Given the description of an element on the screen output the (x, y) to click on. 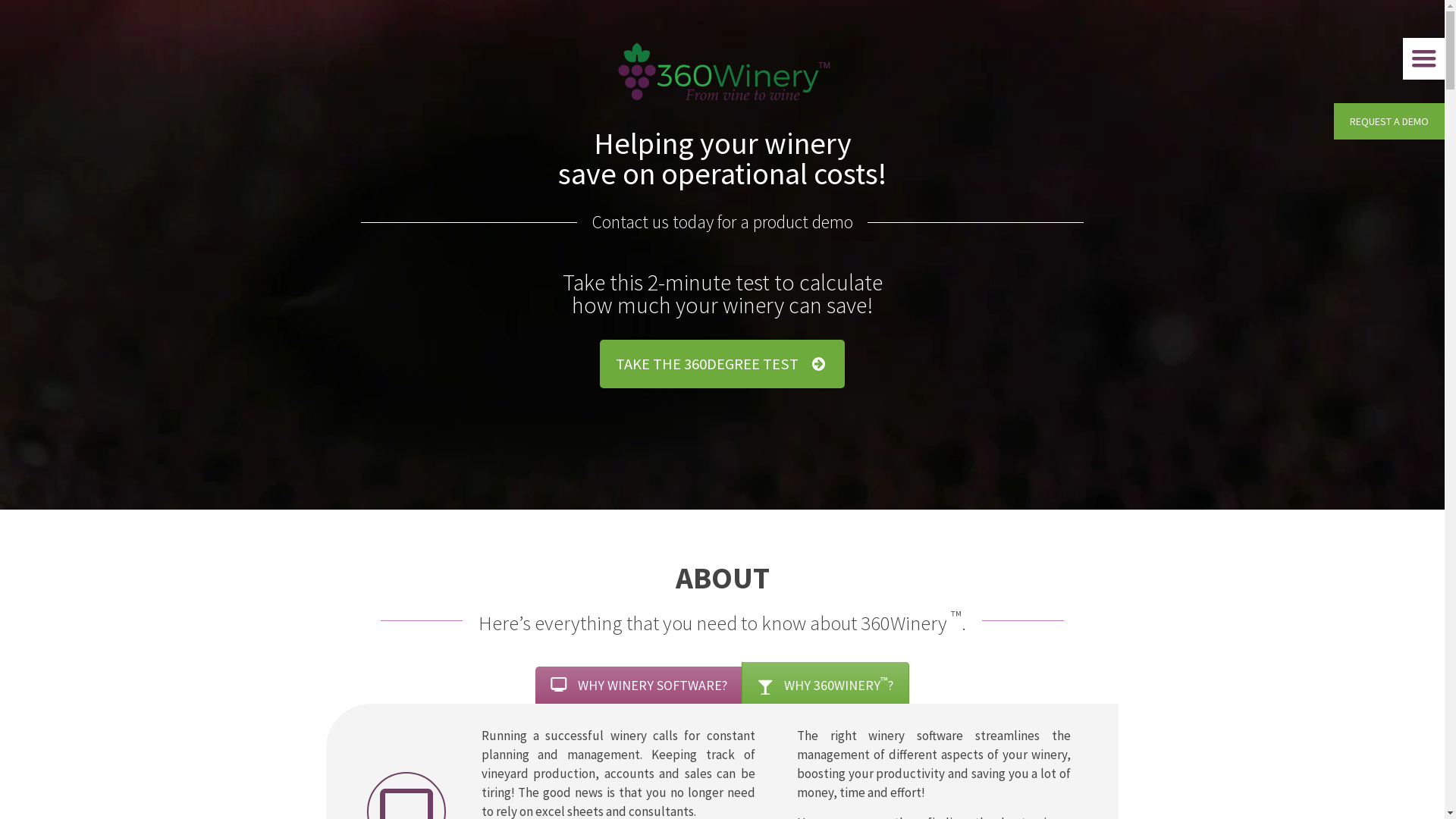
WHY WINERY SOFTWARE? Element type: text (638, 684)
REQUEST A DEMO Element type: text (1388, 121)
TAKE THE 360DEGREE TEST Element type: text (721, 363)
Contact us today for a product demo Element type: text (721, 221)
